Given the description of an element on the screen output the (x, y) to click on. 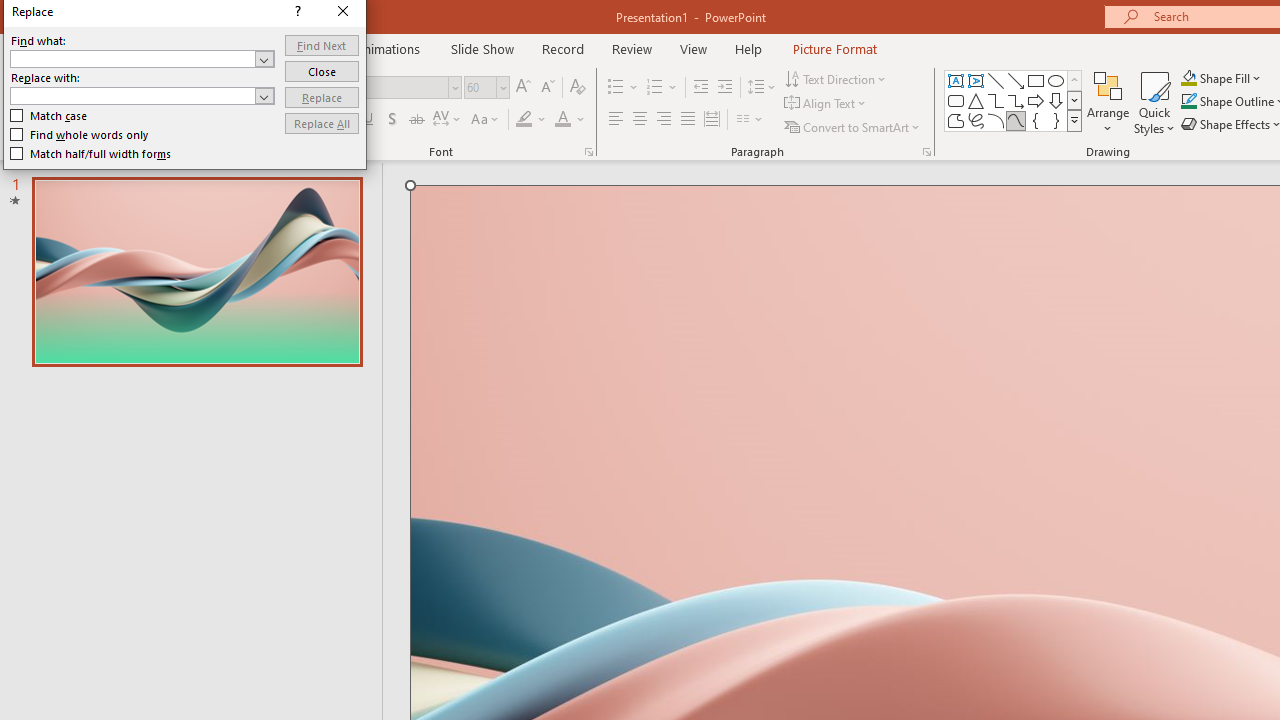
Find what (132, 58)
Picture Format (834, 48)
